Given the description of an element on the screen output the (x, y) to click on. 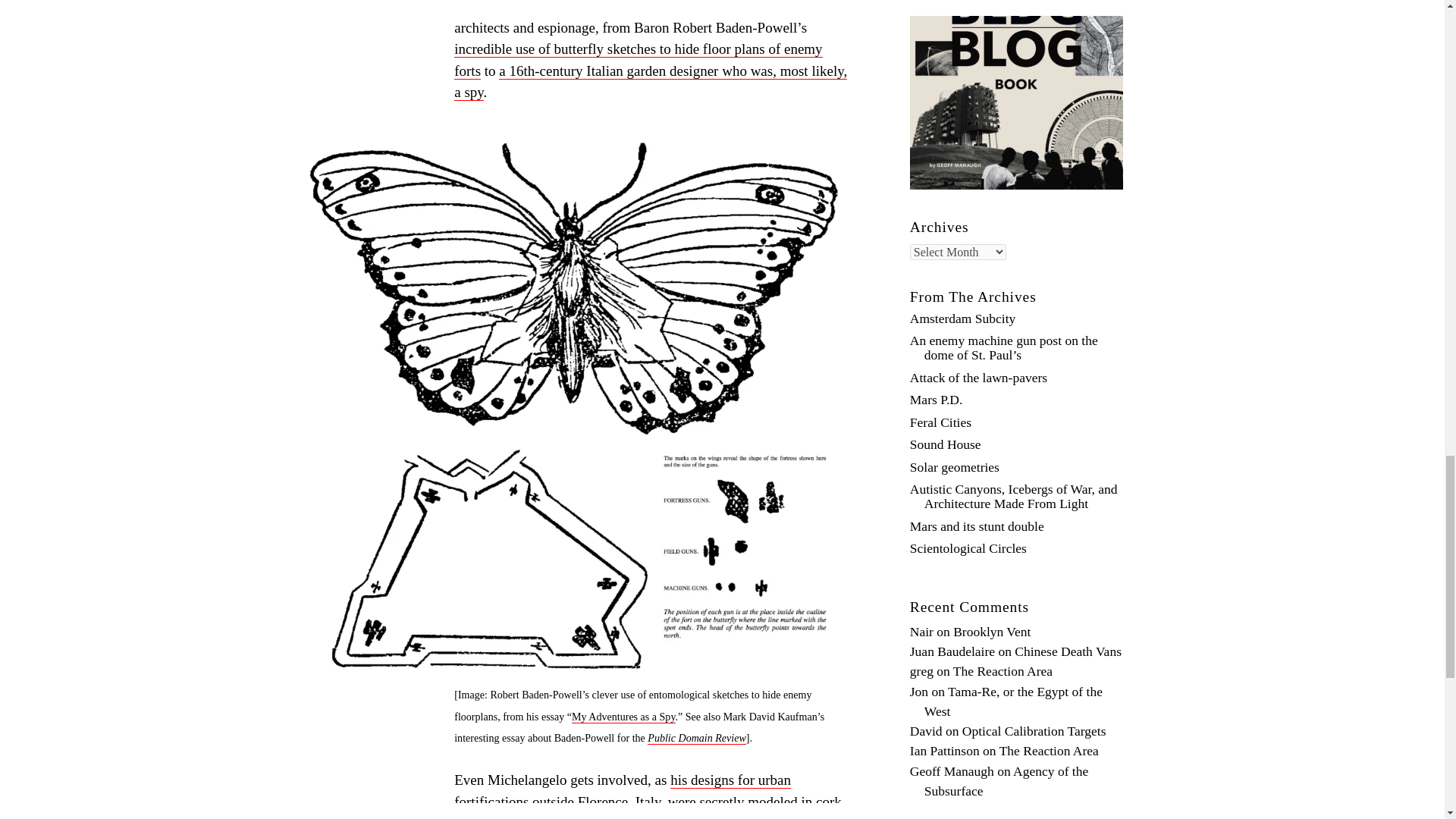
his designs for urban fortifications outside Florence, Italy (622, 791)
Public Domain Review (696, 738)
My Adventures as a Spy (623, 716)
From The Archives (973, 296)
